Given the description of an element on the screen output the (x, y) to click on. 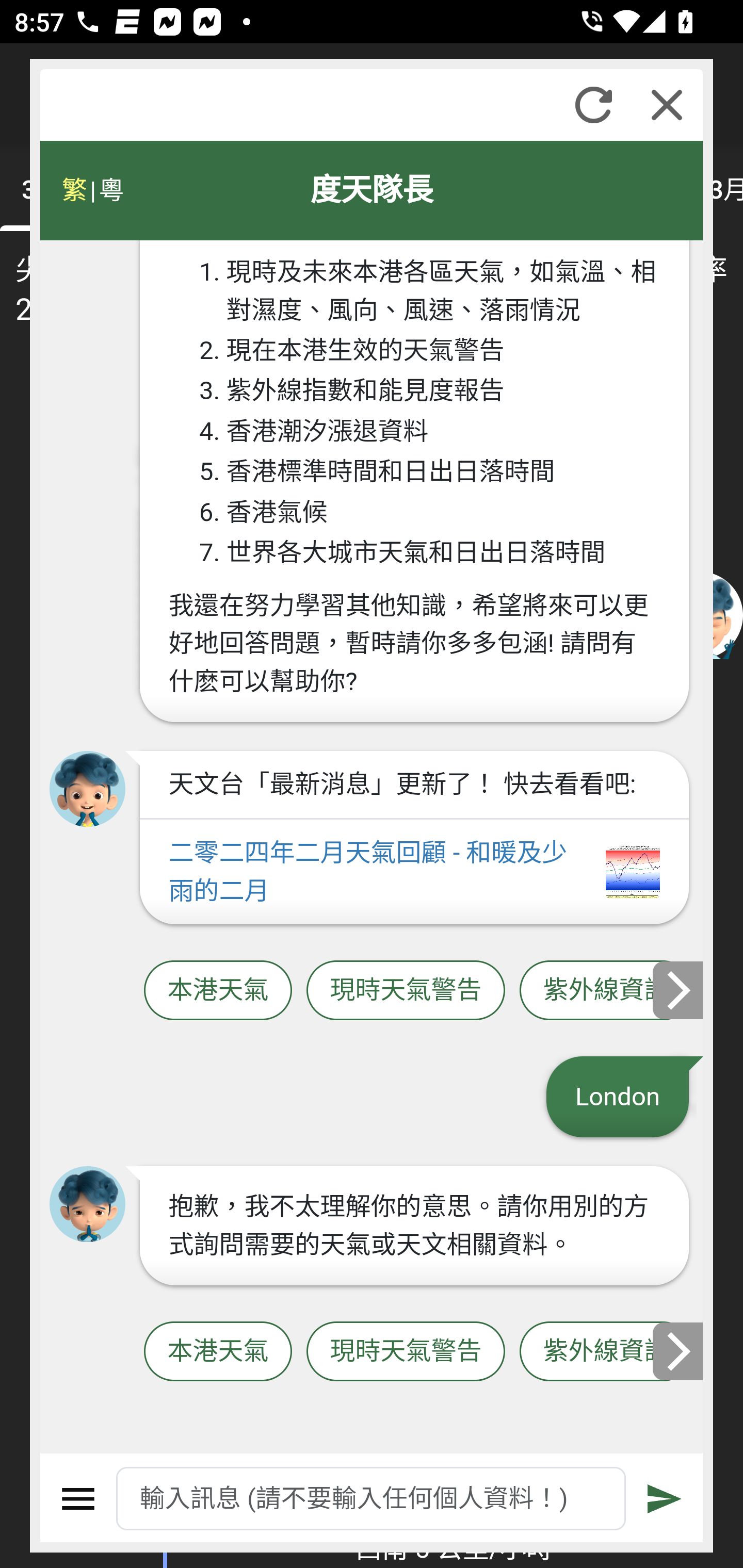
重新整理 (593, 104)
關閉 (666, 104)
繁 (73, 190)
粵 (110, 190)
二零二四年二月天氣回顧 - 和暖及少雨的二月 (413, 872)
本港天氣 (217, 990)
現時天氣警告 (405, 990)
紫外線資訊 (605, 990)
下一張 (678, 989)
本港天氣 (217, 1351)
現時天氣警告 (405, 1351)
紫外線資訊 (605, 1351)
下一張 (678, 1351)
選單 (78, 1498)
遞交 (665, 1498)
